Given the description of an element on the screen output the (x, y) to click on. 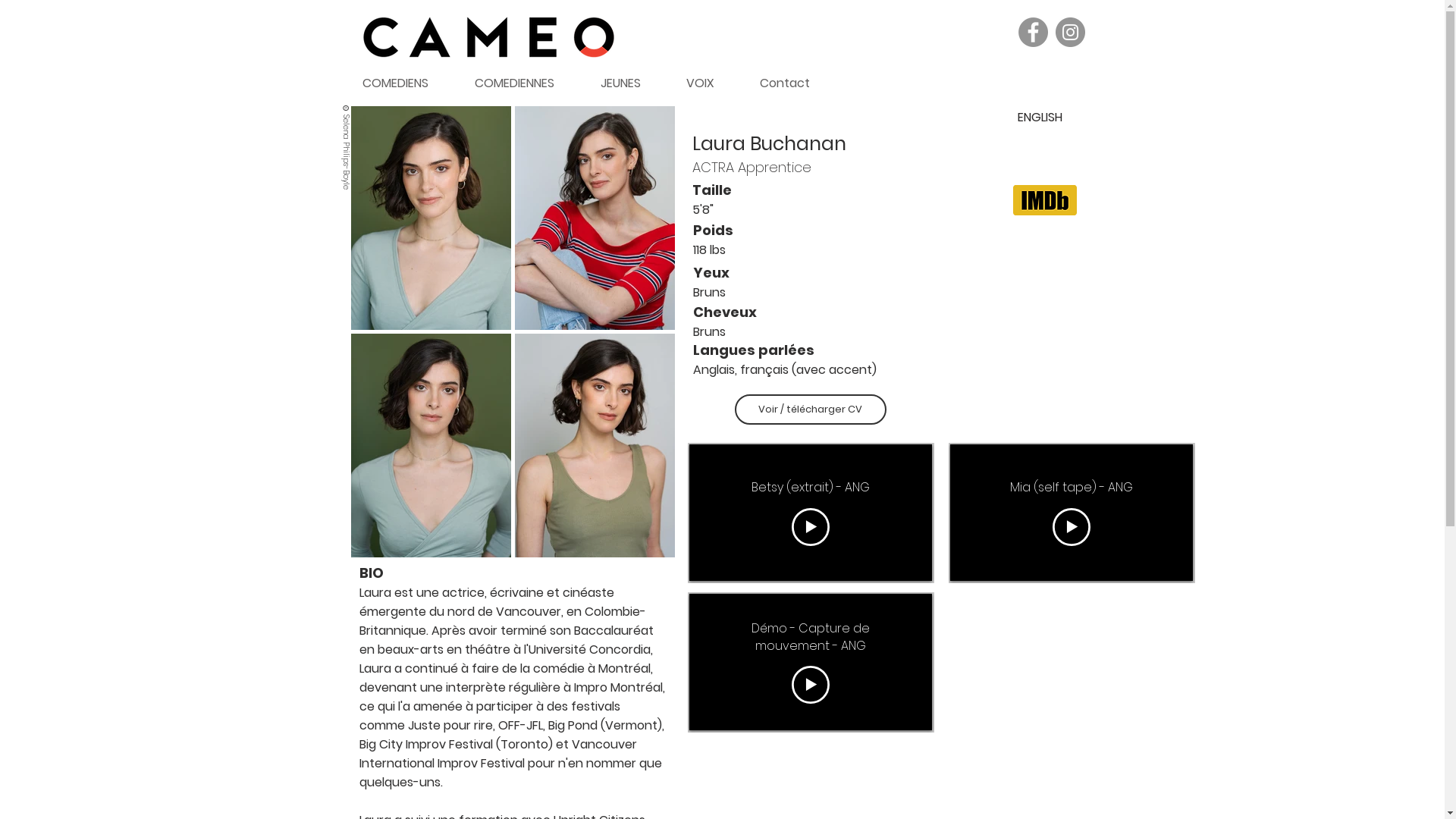
COMEDIENNES Element type: text (525, 83)
COMEDIENS Element type: text (406, 83)
JEUNES Element type: text (631, 83)
VOIX Element type: text (711, 83)
Contact Element type: text (795, 83)
ENGLISH Element type: text (1039, 117)
